Given the description of an element on the screen output the (x, y) to click on. 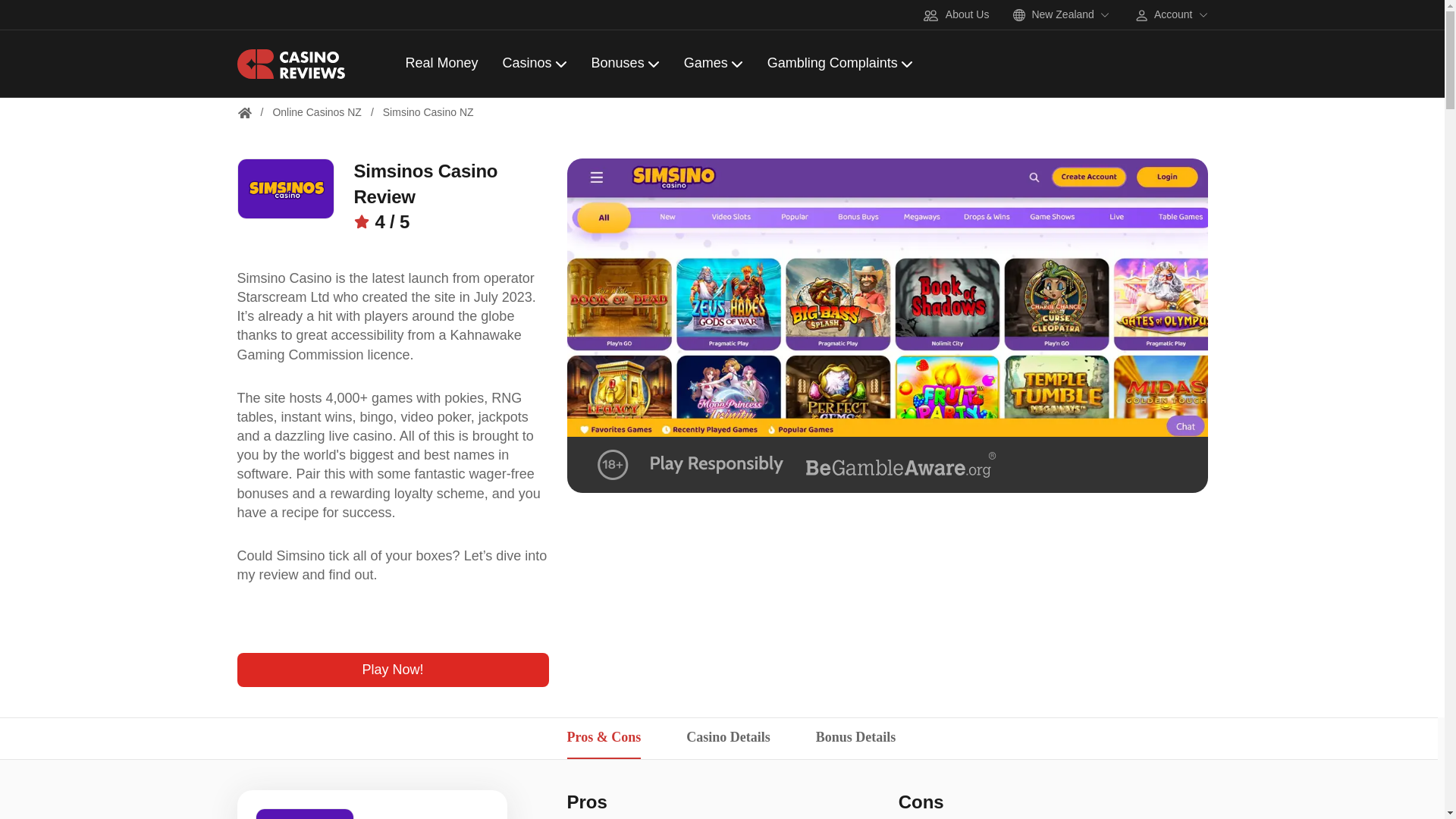
CasinoReviews NZ (243, 112)
Gambling Complaints (839, 63)
Bonuses (625, 63)
Account (1171, 14)
Real Money (440, 63)
Casinos (534, 63)
New Zealand (1061, 14)
About Us (955, 24)
